Given the description of an element on the screen output the (x, y) to click on. 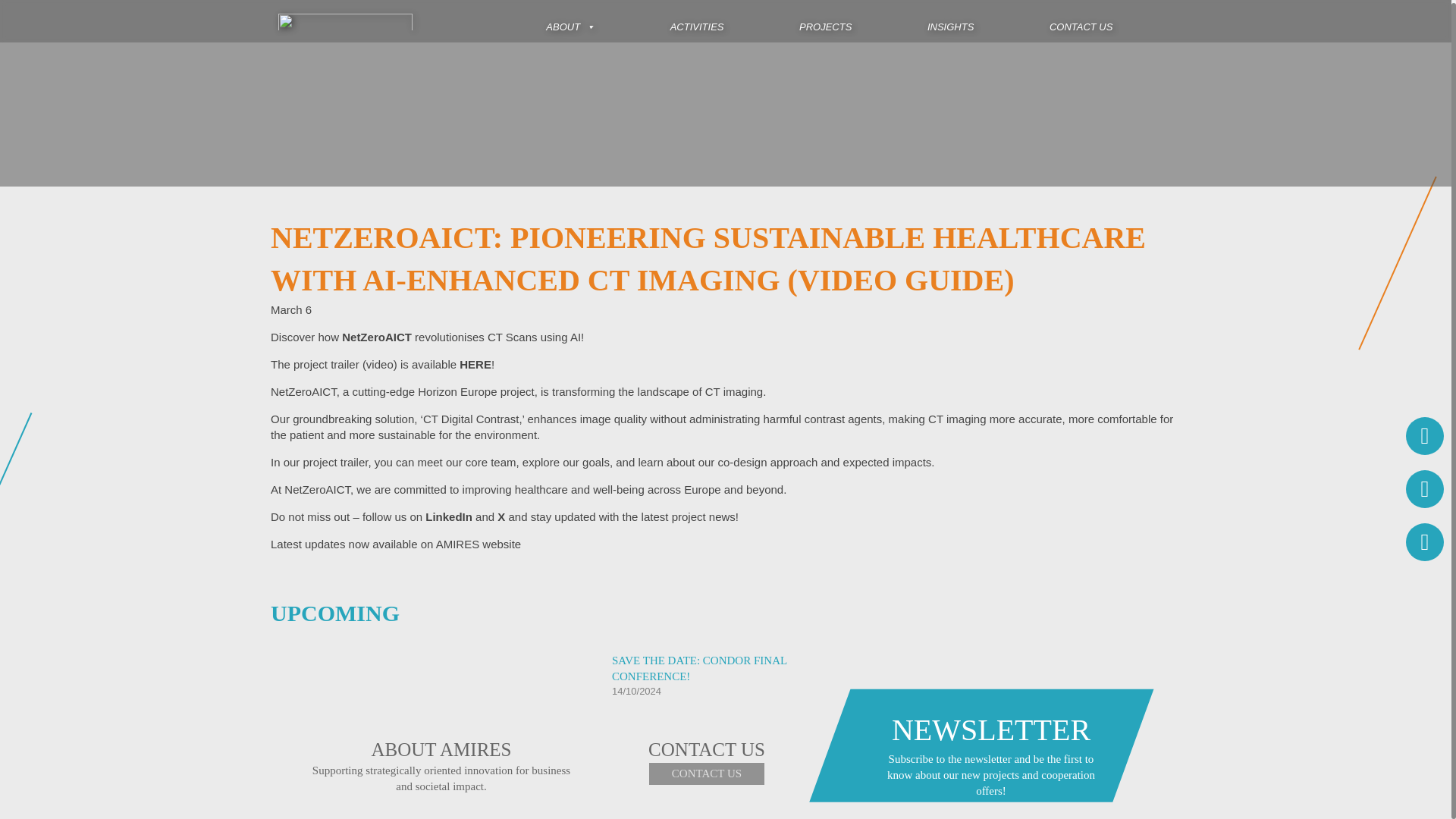
ACTIVITIES (697, 21)
ABOUT (570, 21)
HERE (476, 364)
CONTACT US (1081, 21)
LinkedIn (448, 516)
INSIGHTS (950, 21)
PROJECTS (825, 21)
AMIRES website (478, 543)
CONTACT US (706, 773)
